Given the description of an element on the screen output the (x, y) to click on. 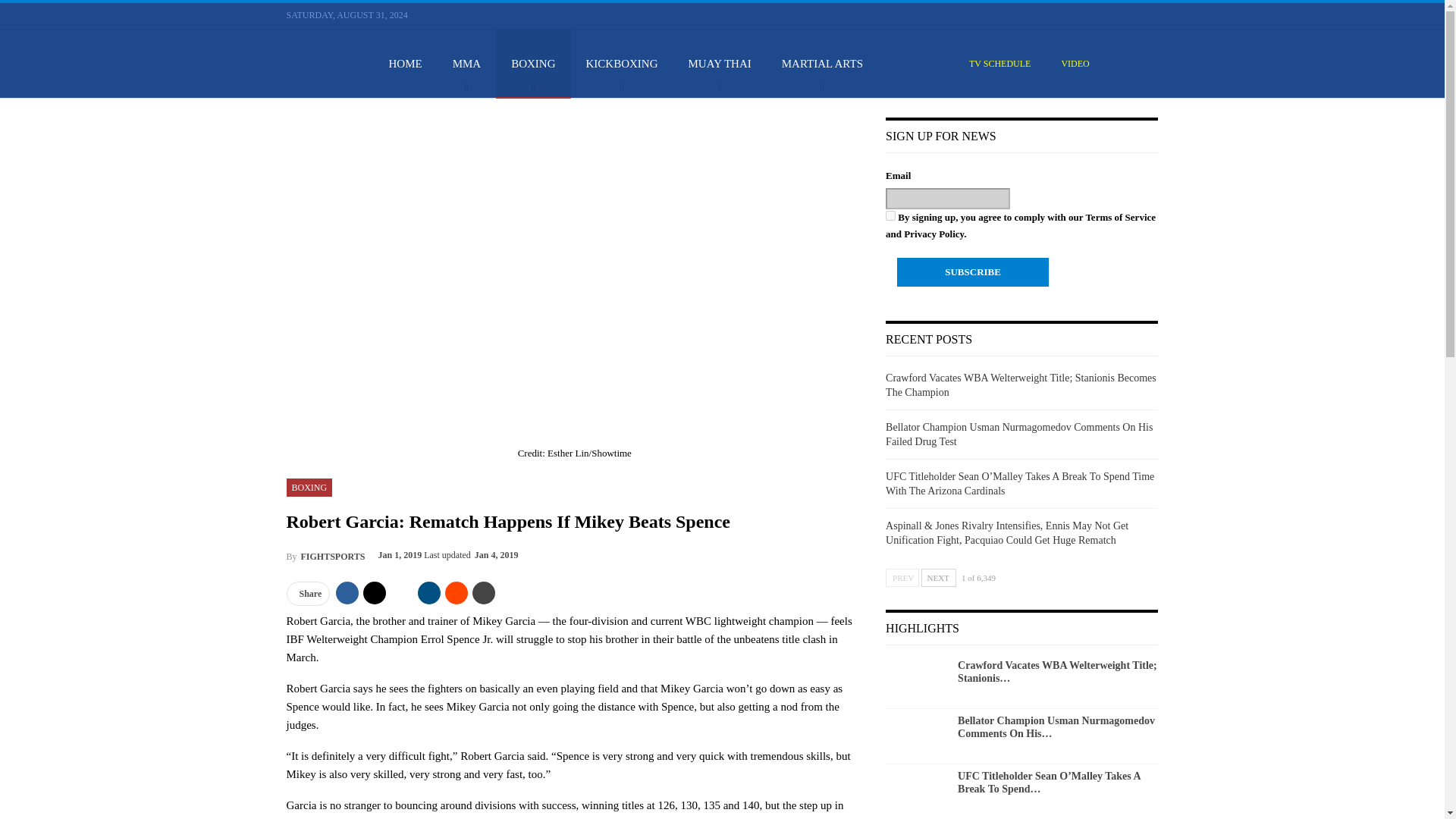
Subscribe (972, 271)
twitter (1096, 13)
facebook (1077, 13)
youtube (1114, 14)
twitter (1096, 14)
instagram (1132, 13)
instagram (1132, 14)
HOME (404, 63)
KICKBOXING (621, 63)
on (890, 215)
